Given the description of an element on the screen output the (x, y) to click on. 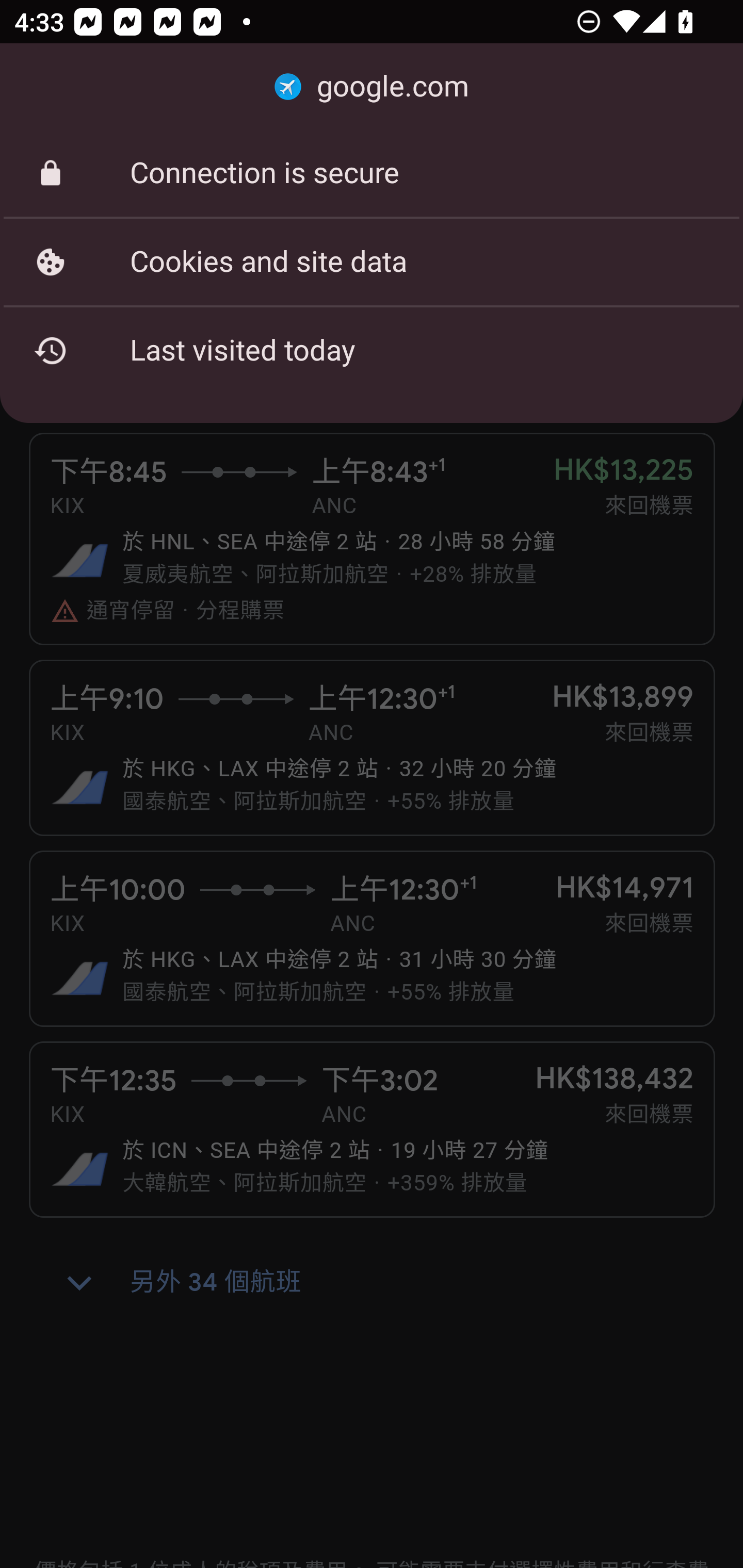
google.com (371, 86)
Connection is secure (371, 173)
Cookies and site data (371, 261)
Last visited today (371, 350)
